Given the description of an element on the screen output the (x, y) to click on. 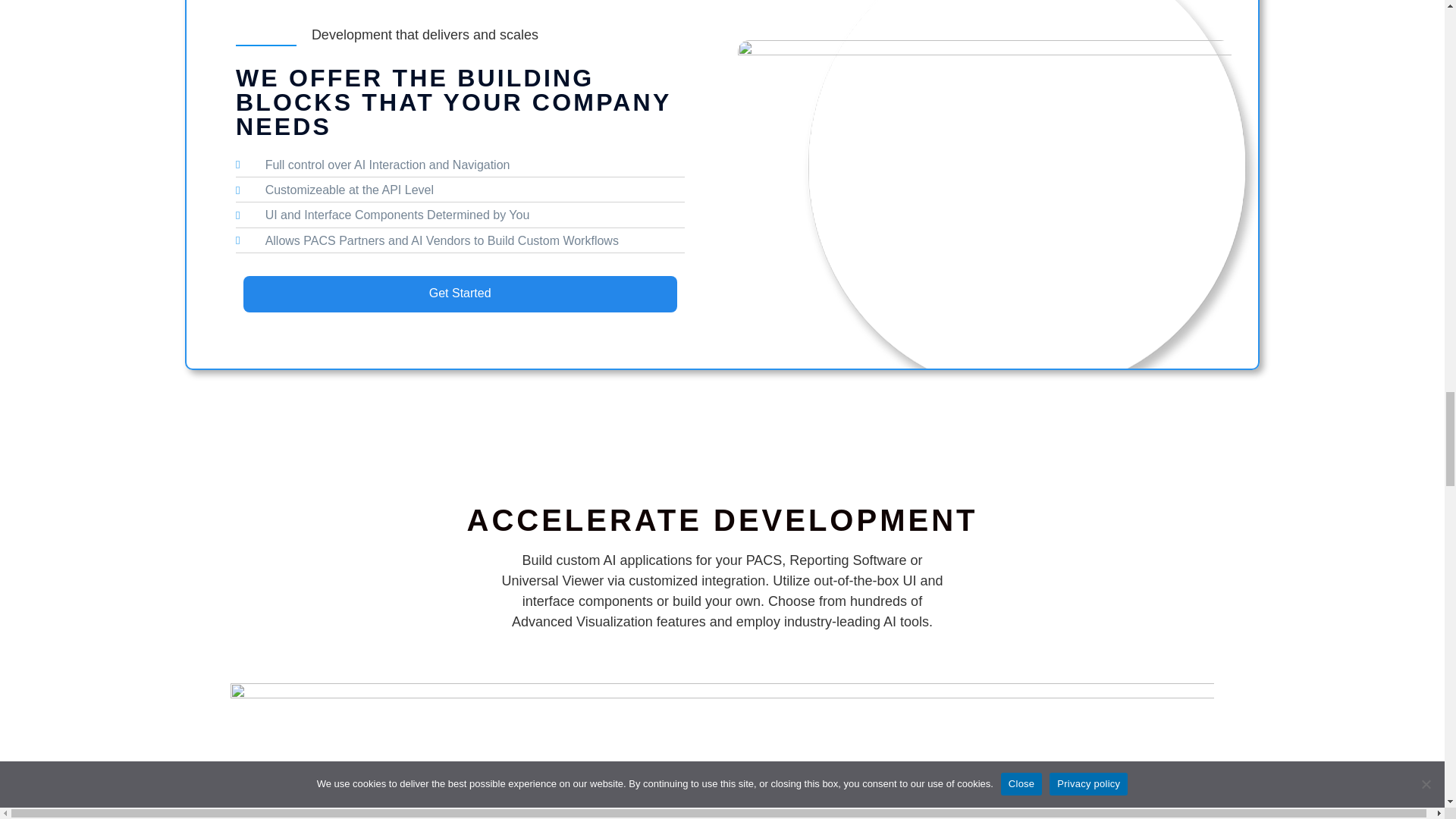
Get Started (460, 294)
